Given the description of an element on the screen output the (x, y) to click on. 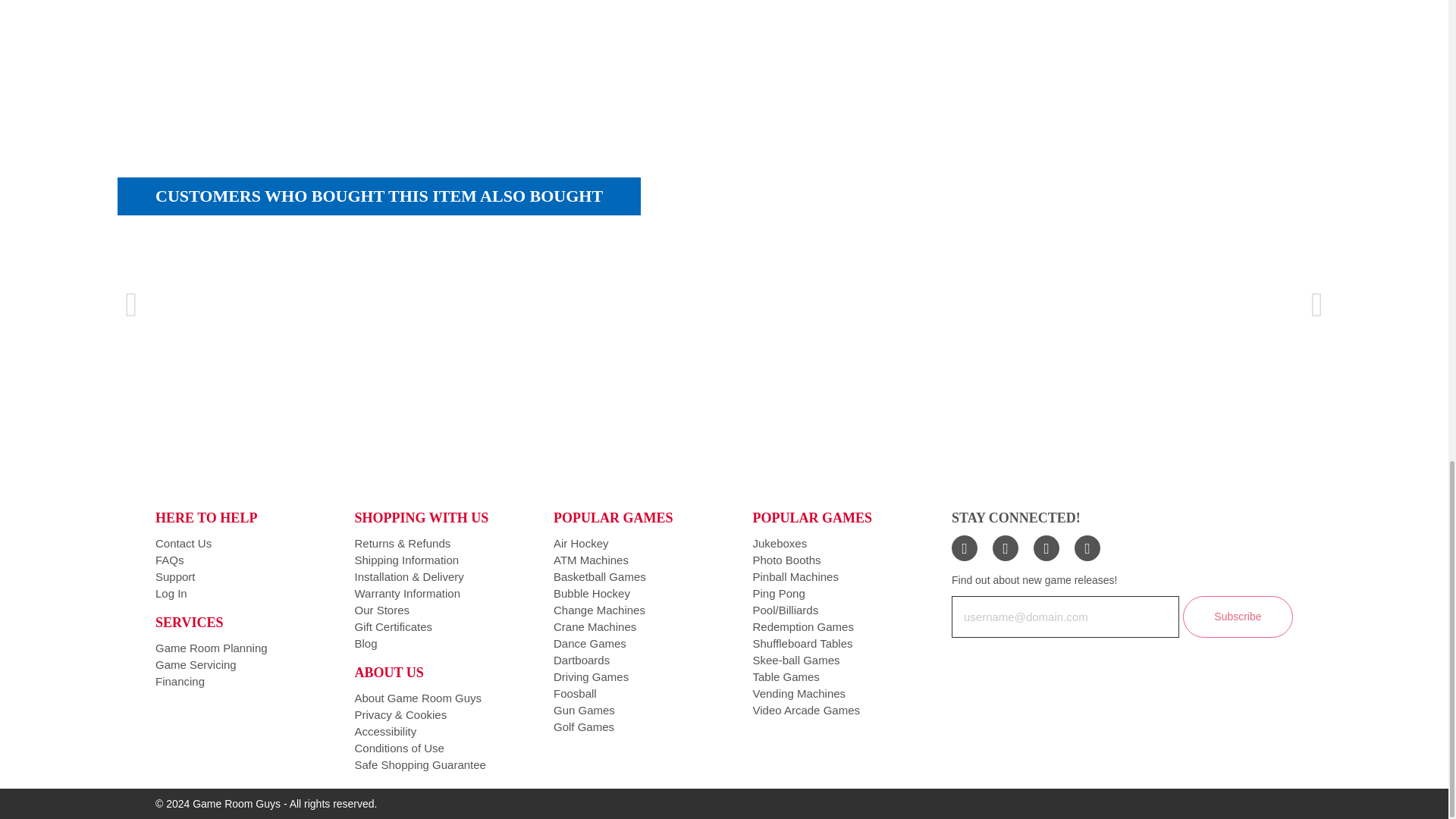
instagram (1046, 548)
facebook (964, 548)
pinterest (1087, 548)
twitter (1004, 548)
